Given the description of an element on the screen output the (x, y) to click on. 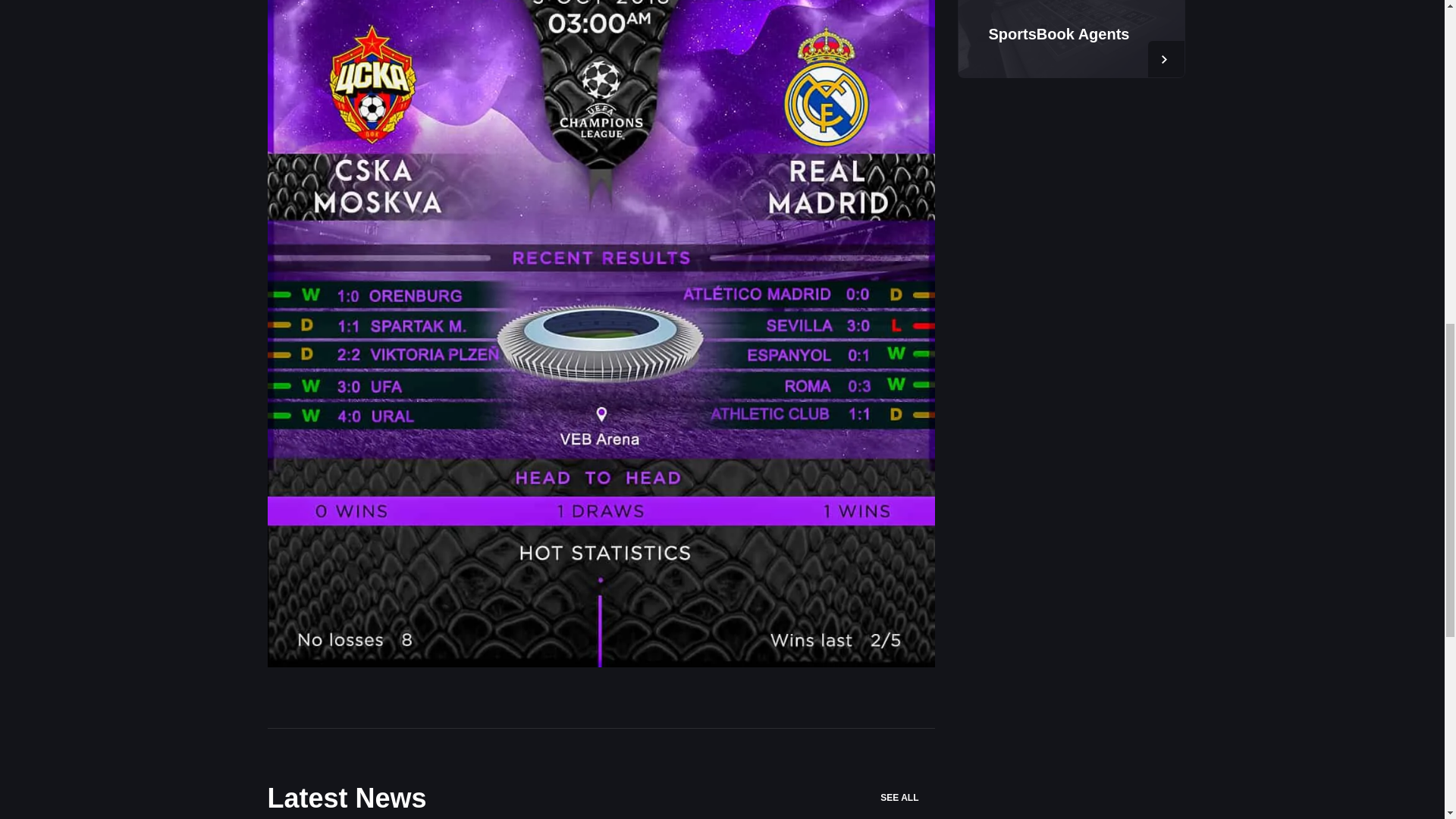
SportsBook Agents (1058, 33)
SEE ALL (907, 798)
